Given the description of an element on the screen output the (x, y) to click on. 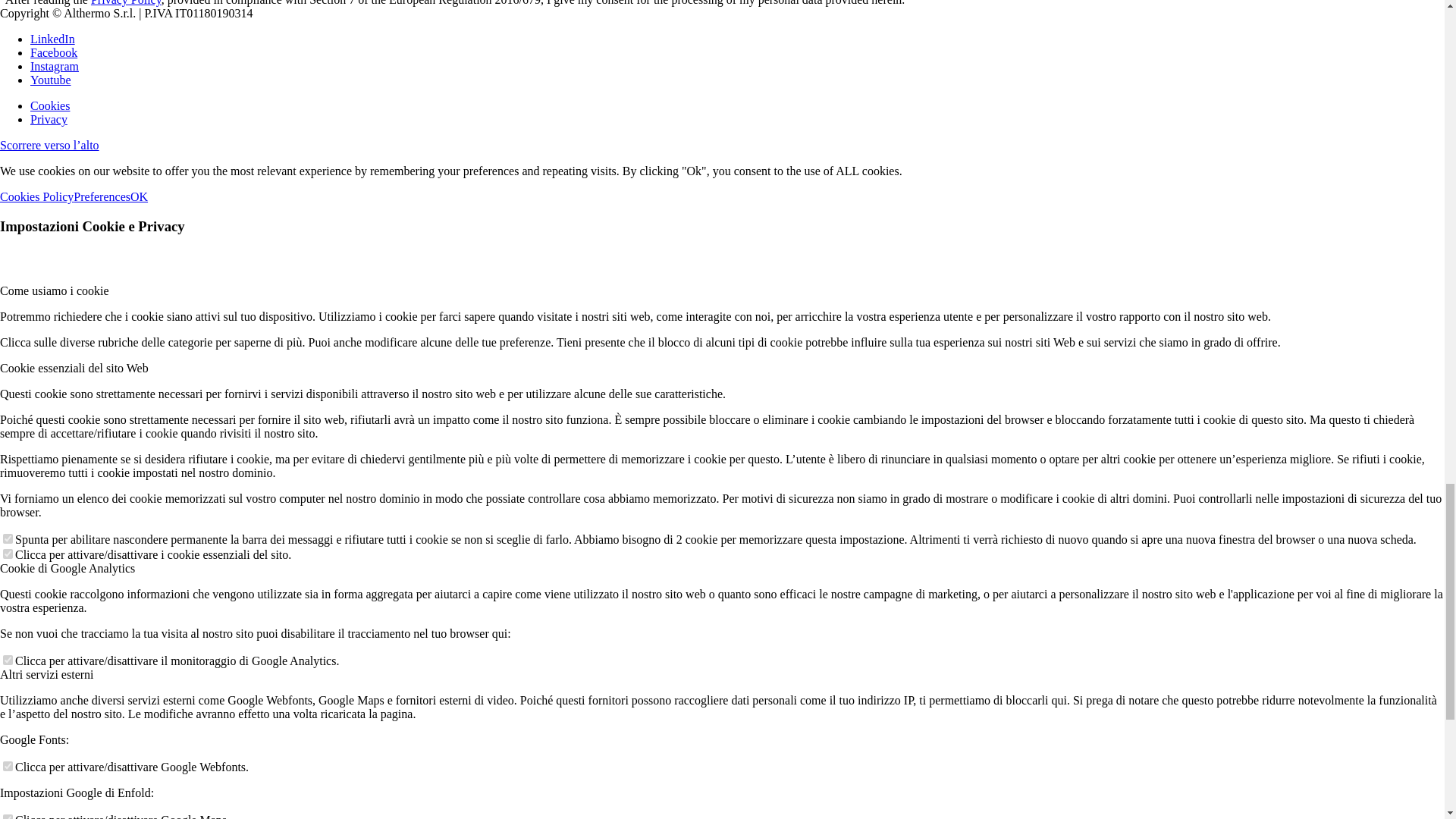
on (7, 660)
on (7, 538)
on (7, 553)
on (7, 816)
on (7, 766)
